Given the description of an element on the screen output the (x, y) to click on. 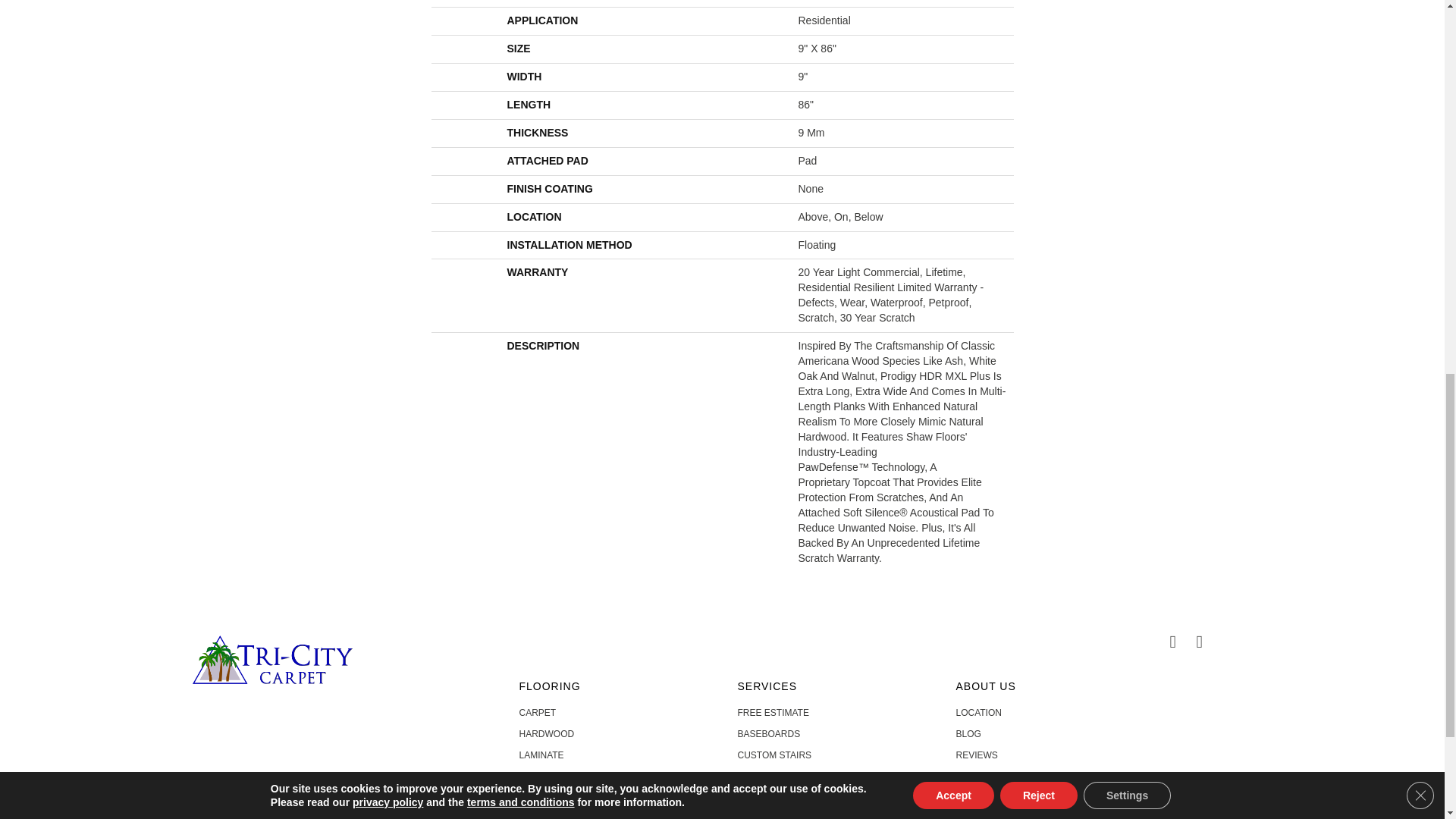
Tri-City-logo (271, 659)
